Given the description of an element on the screen output the (x, y) to click on. 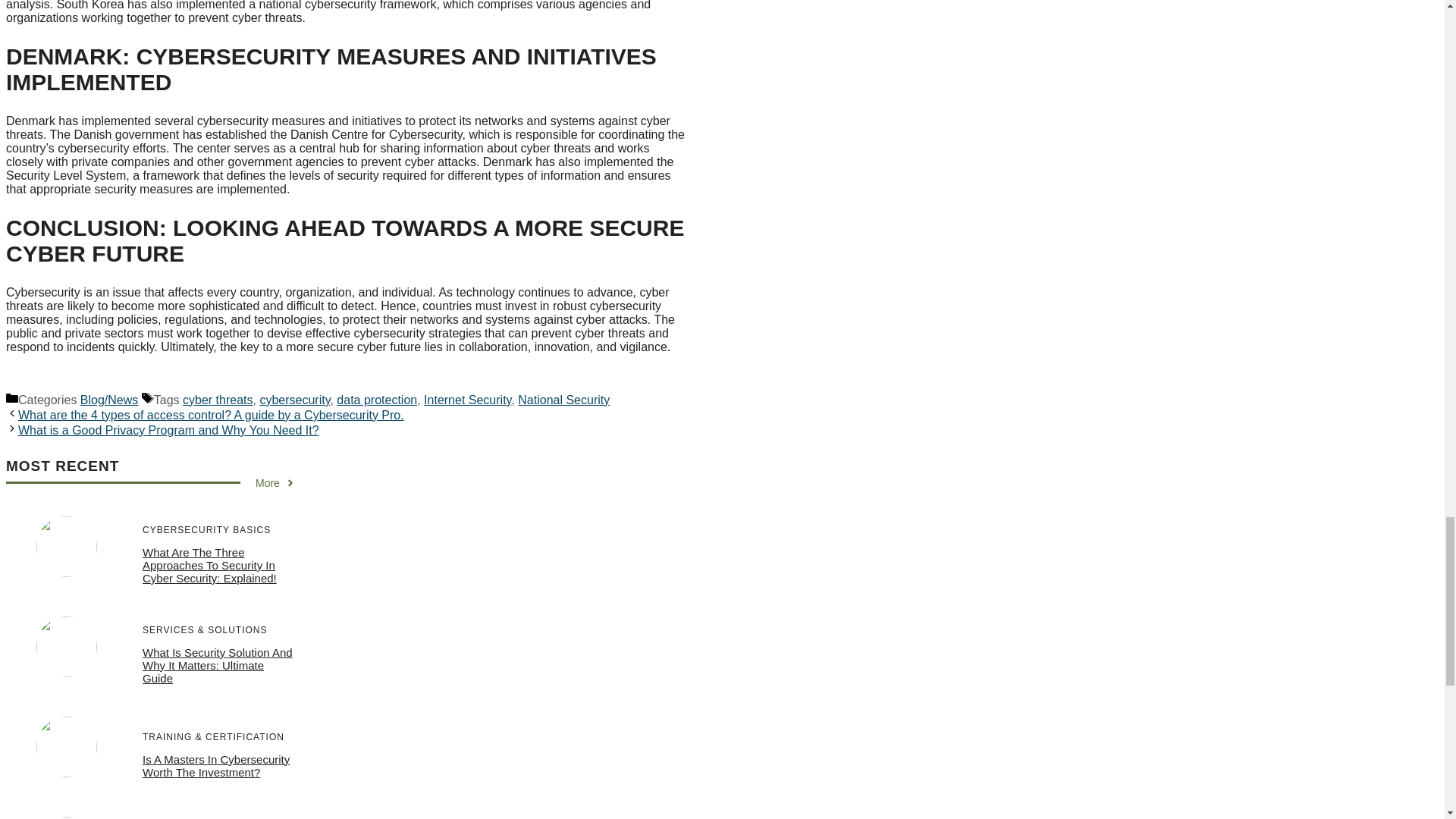
Internet Security (467, 399)
data protection (376, 399)
cybersecurity (294, 399)
cyber threats (217, 399)
More (275, 482)
National Security (564, 399)
What Is Security Solution And Why It Matters: Ultimate Guide (217, 665)
What is a Good Privacy Program and Why You Need It? (167, 430)
Is A Masters In Cybersecurity Worth The Investment? (215, 765)
